Given the description of an element on the screen output the (x, y) to click on. 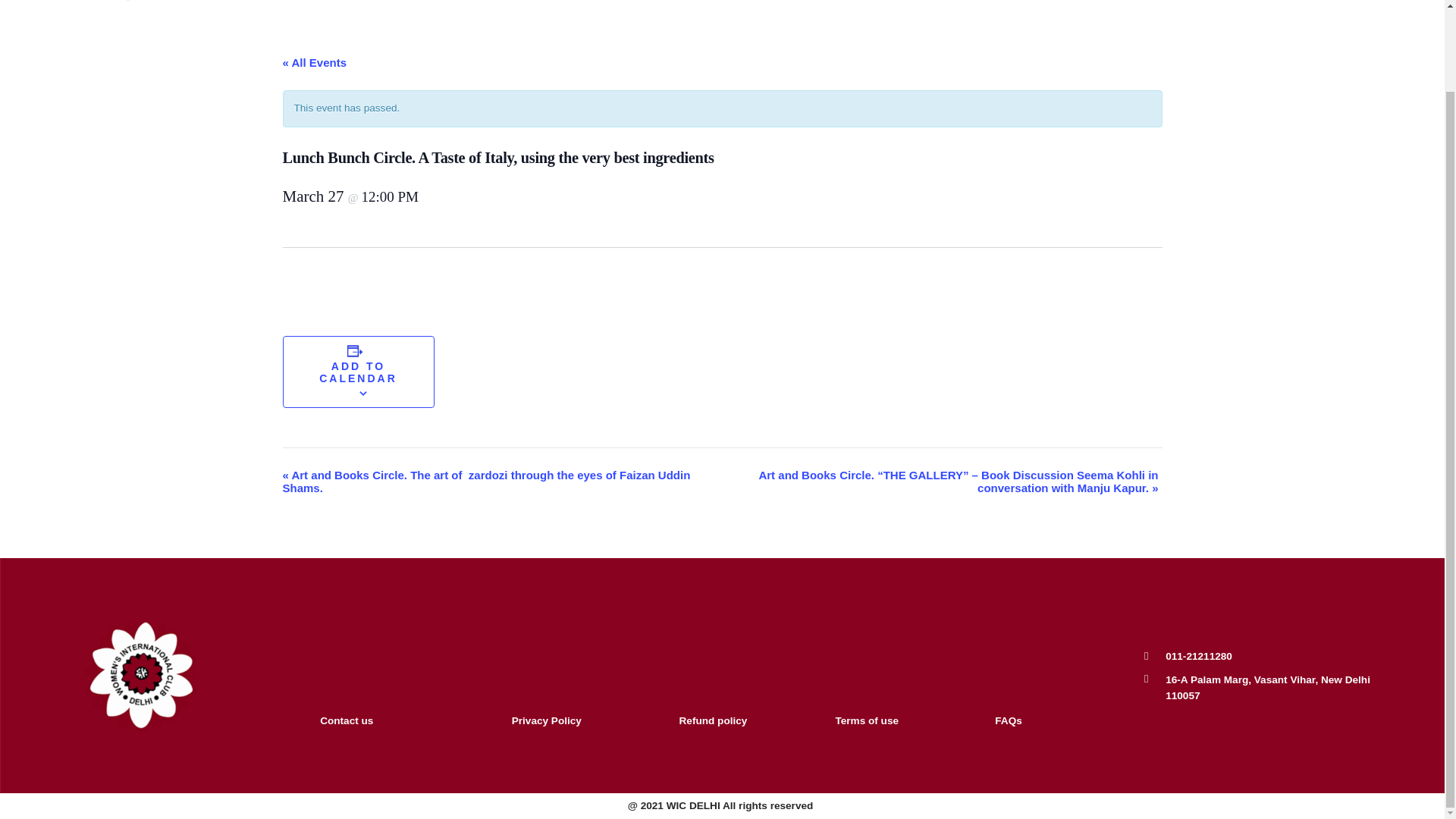
Privacy Policy (546, 720)
Contact us (346, 720)
Refund policy (713, 720)
FAQs (1008, 720)
Terms of use (866, 720)
ADD TO CALENDAR (358, 372)
